Given the description of an element on the screen output the (x, y) to click on. 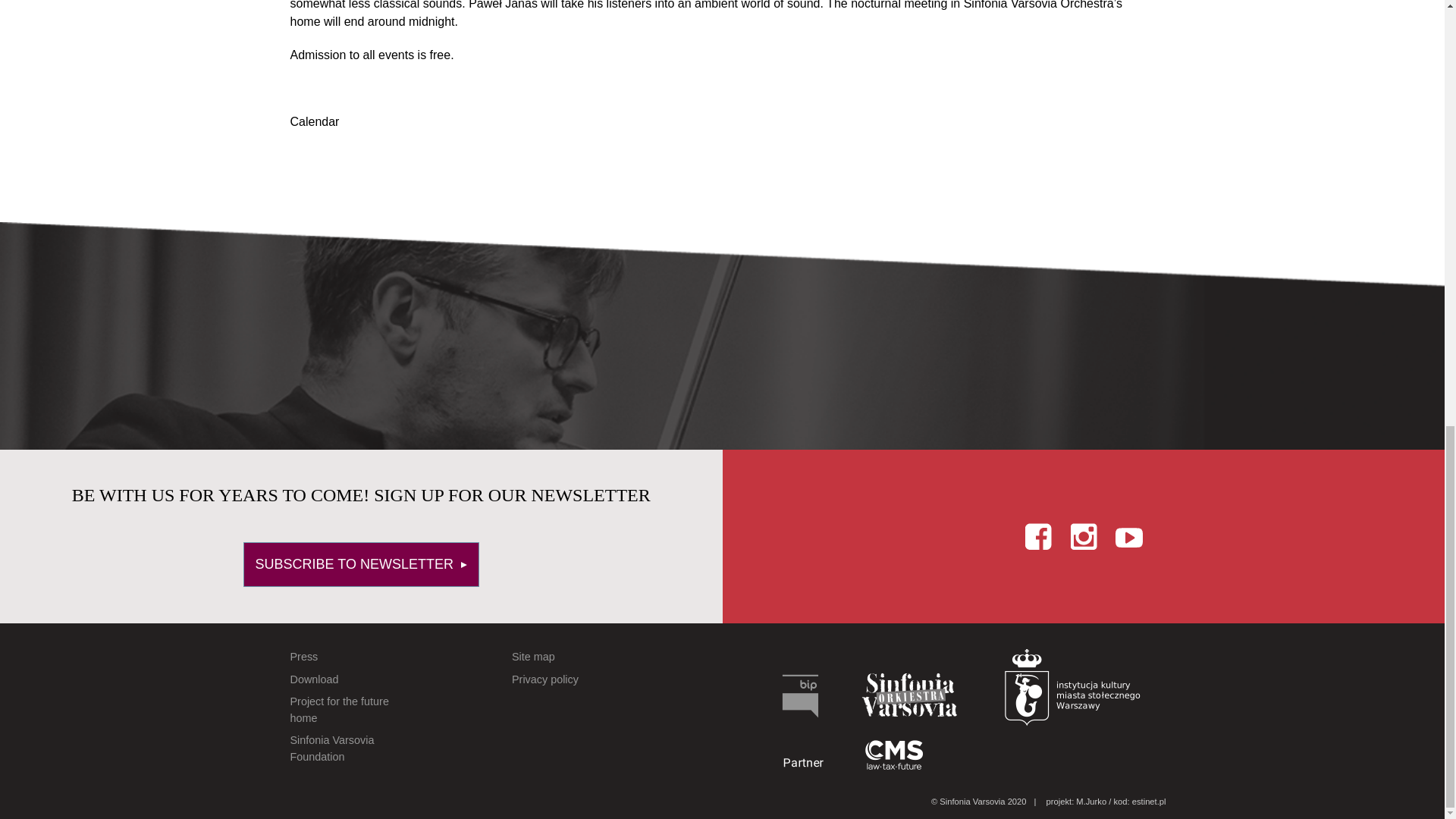
Calendar (314, 121)
Open instagram in new window (1083, 535)
Open youtube in new window (1128, 535)
Open facebook fanpage in new window (1037, 535)
